Given the description of an element on the screen output the (x, y) to click on. 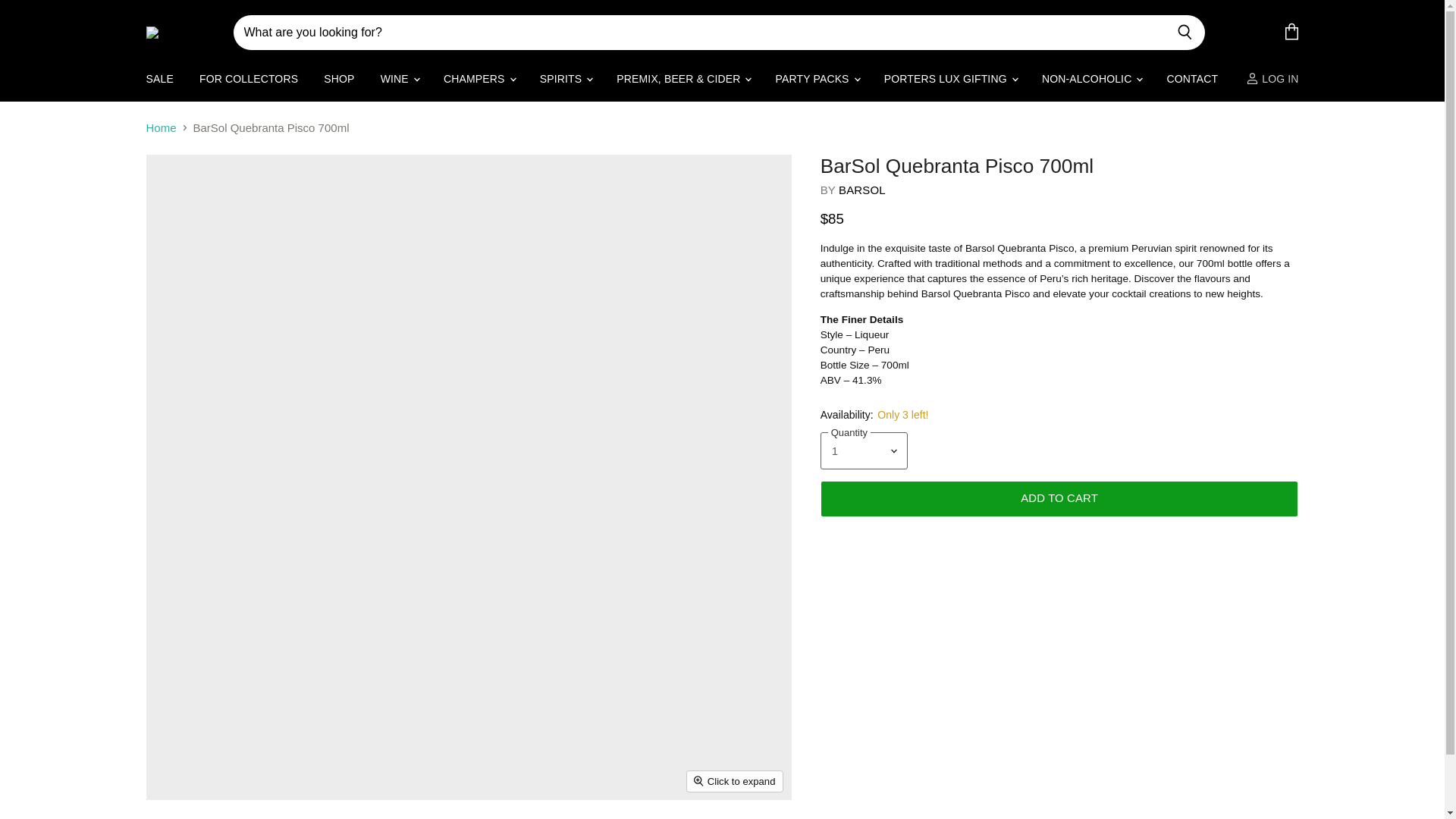
ACCOUNT ICON (1252, 88)
FOR COLLECTORS (247, 89)
SHOP (339, 89)
SALE (159, 89)
BarSol (861, 200)
WINE (399, 89)
